Given the description of an element on the screen output the (x, y) to click on. 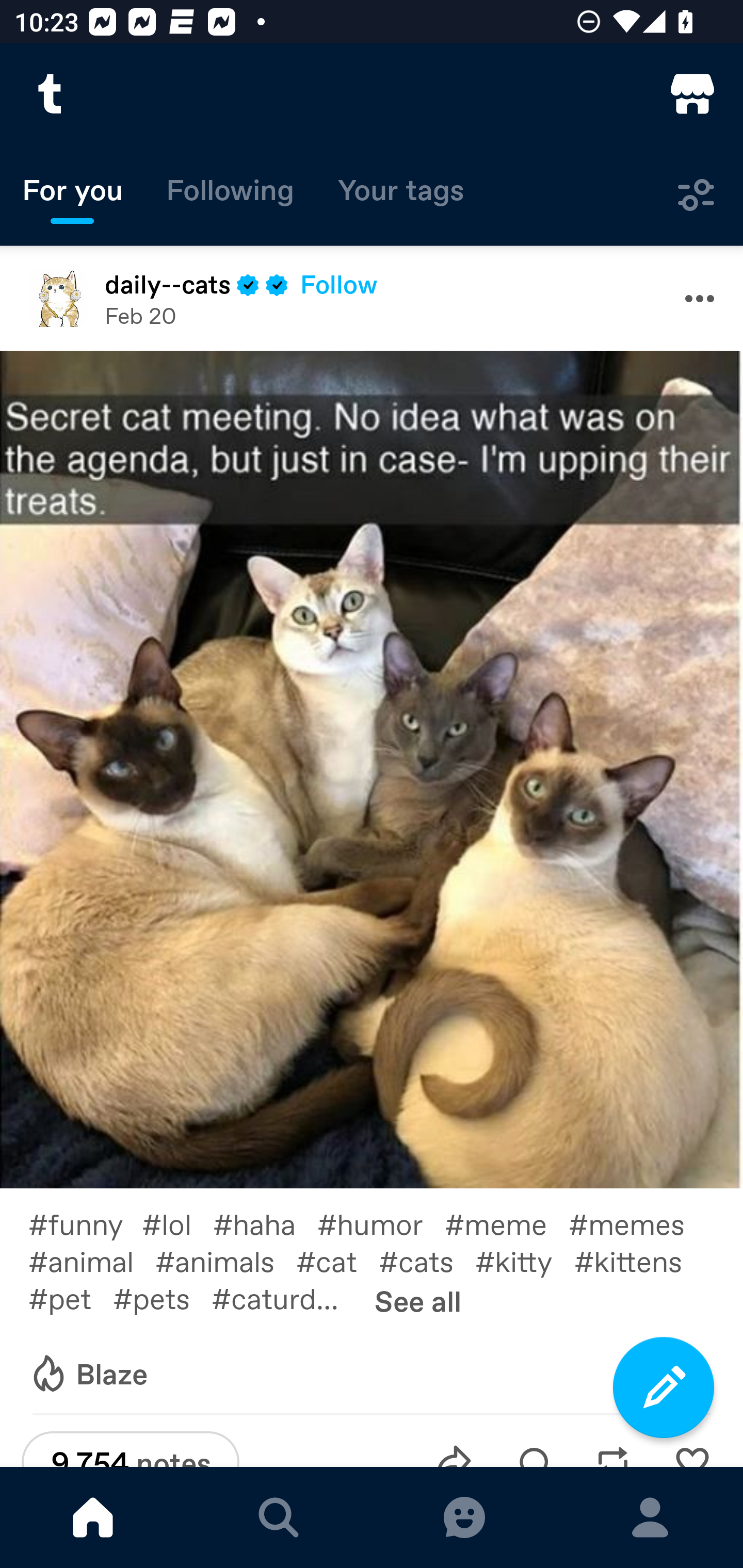
Tumblr (50, 93)
TumblrMart (692, 94)
Following (230, 195)
Your tags (400, 195)
Follow (338, 283)
#funny (84, 1222)
#lol (177, 1222)
#haha (265, 1222)
#humor (381, 1222)
#meme (506, 1222)
#memes (637, 1222)
#animal (91, 1260)
#animals (225, 1260)
#cat (337, 1260)
#cats (426, 1260)
#kitty (524, 1260)
#kittens (638, 1260)
#pet (70, 1297)
#pets (161, 1297)
#caturd… (285, 1297)
See all (417, 1300)
Blaze Blaze Blaze (88, 1373)
Compose a new post (663, 1387)
DASHBOARD (92, 1517)
EXPLORE (278, 1517)
MESSAGES (464, 1517)
ACCOUNT (650, 1517)
